Given the description of an element on the screen output the (x, y) to click on. 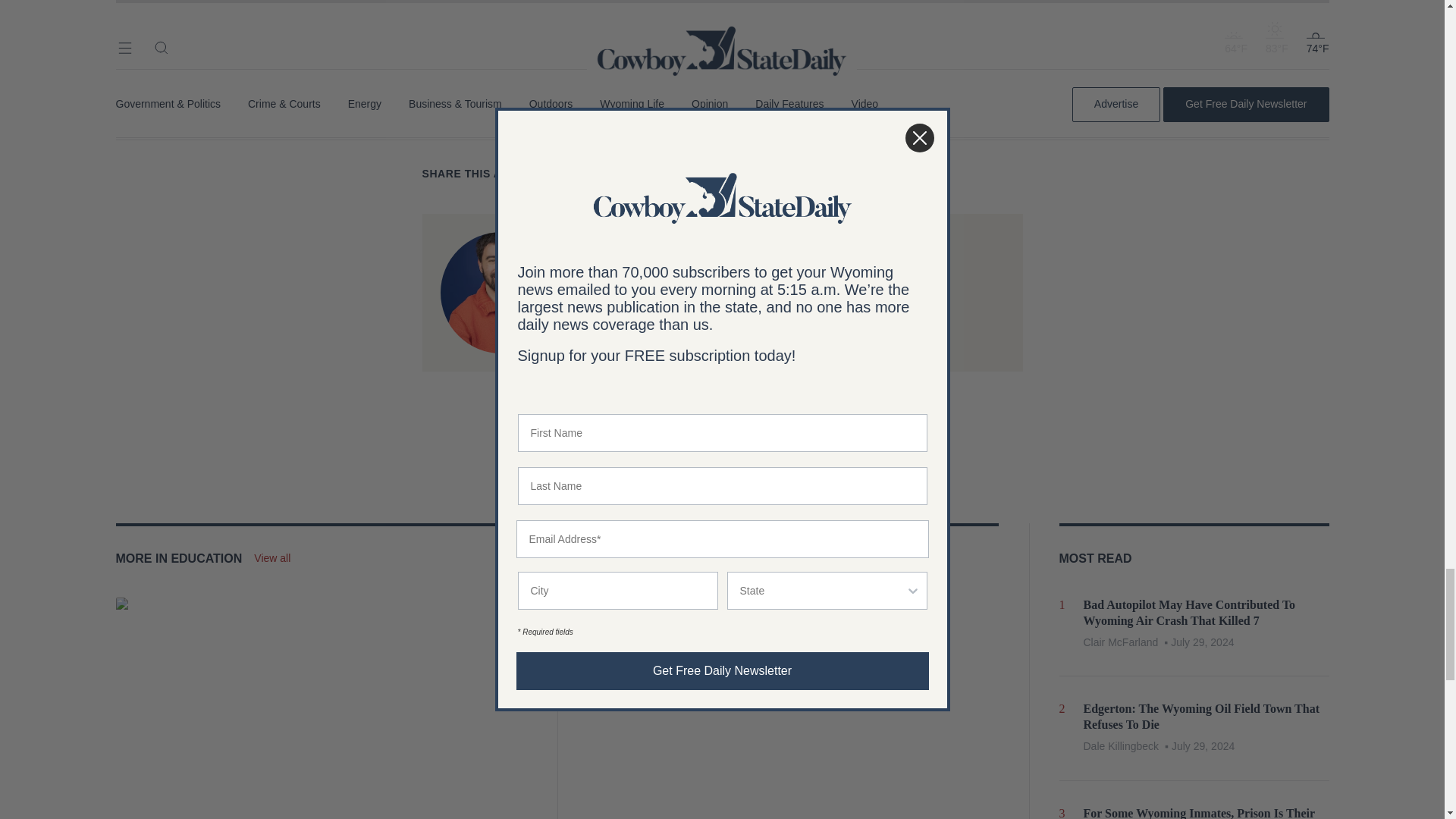
Copy to clipboard (664, 174)
